Given the description of an element on the screen output the (x, y) to click on. 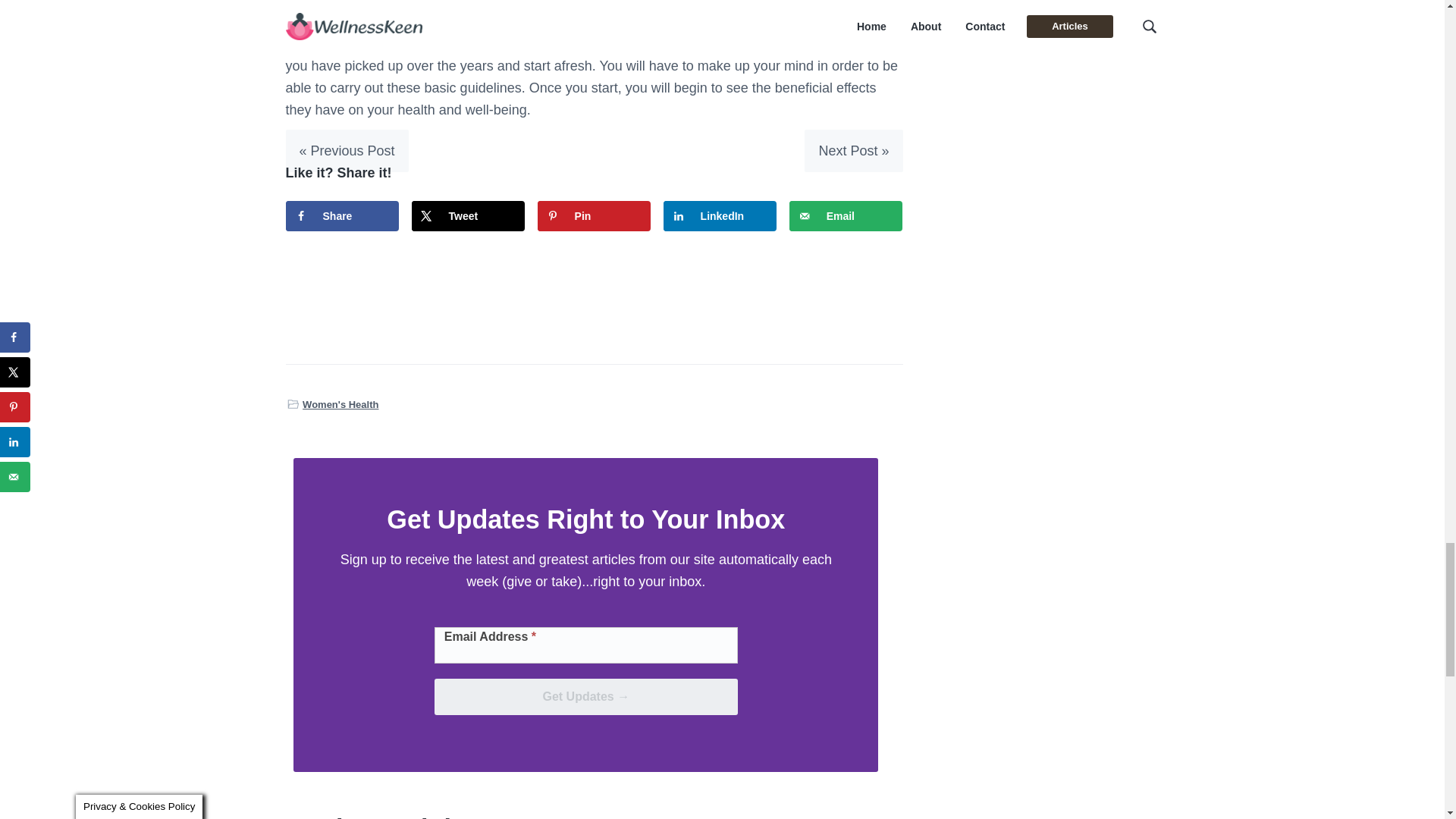
Women's Health (340, 404)
LinkedIn (720, 215)
Share (341, 215)
Share on X (468, 215)
Share on Facebook (341, 215)
Email (845, 215)
Save to Pinterest (593, 215)
Tweet (468, 215)
Pin (593, 215)
Share on LinkedIn (720, 215)
Send over email (845, 215)
